Given the description of an element on the screen output the (x, y) to click on. 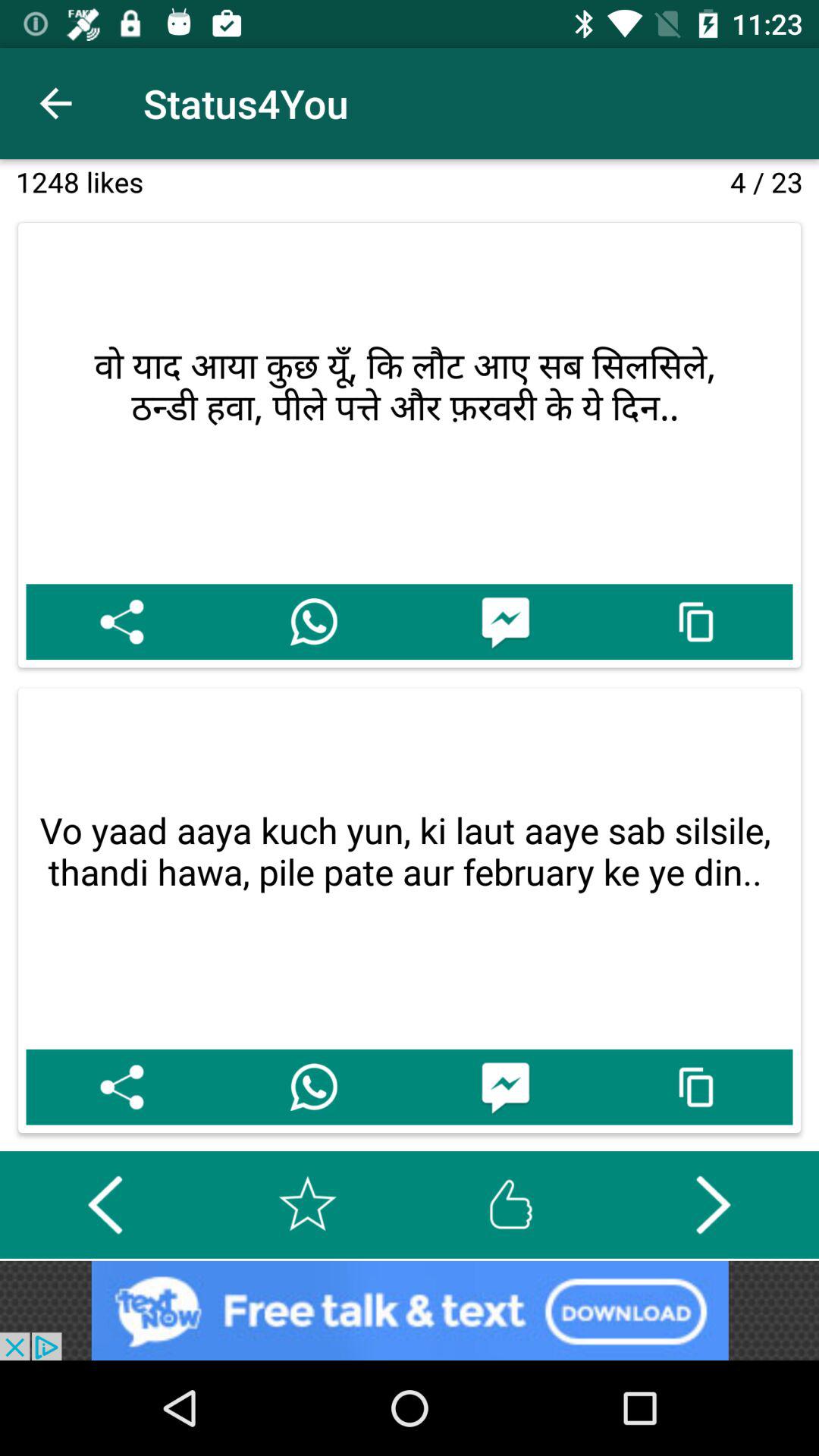
like page (509, 1204)
